Given the description of an element on the screen output the (x, y) to click on. 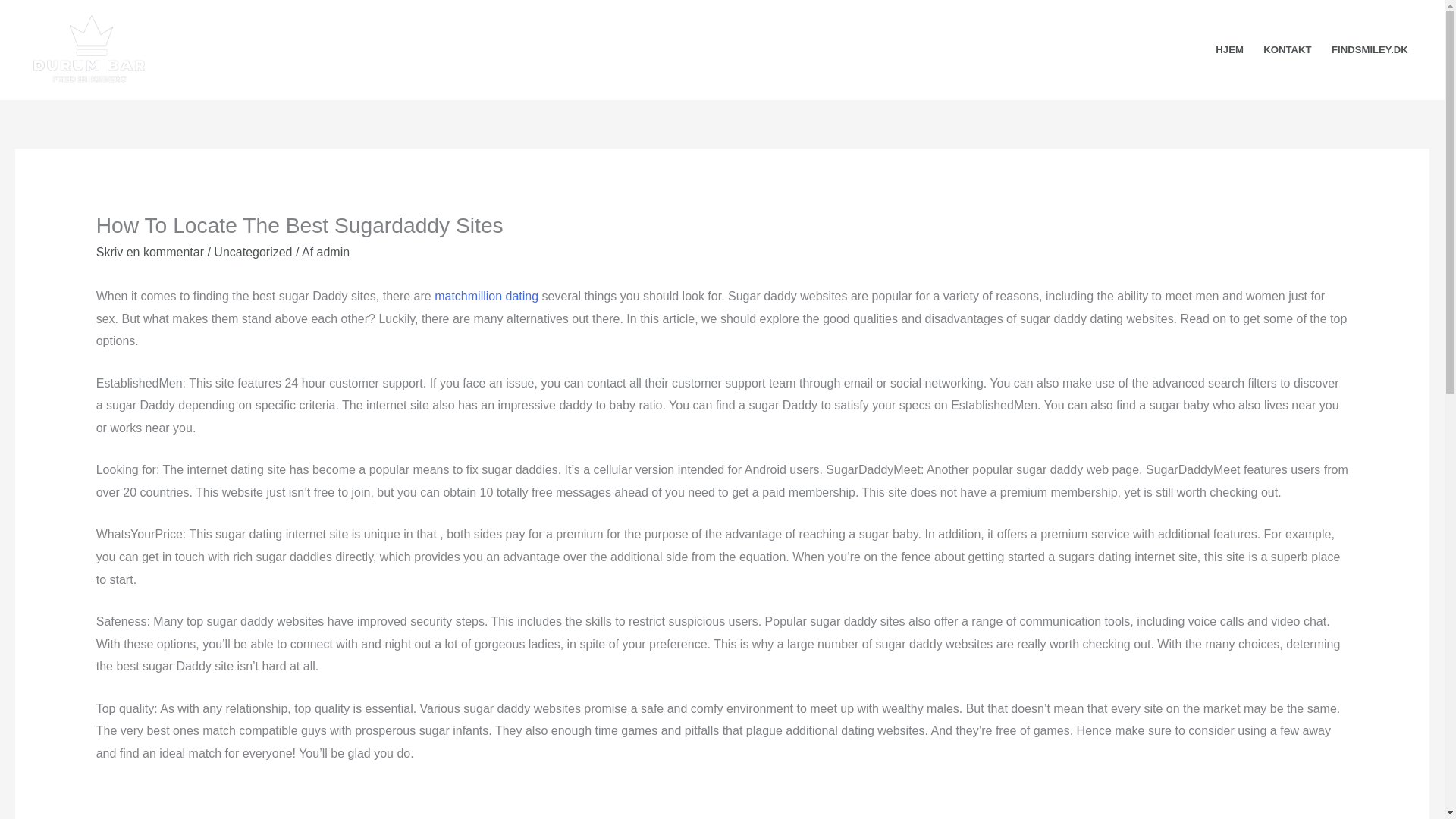
Uncategorized (253, 251)
KONTAKT (1287, 49)
FINDSMILEY.DK (1370, 49)
HJEM (1229, 49)
admin (333, 251)
Skriv en kommentar (149, 251)
matchmillion dating (485, 295)
View all posts by admin (333, 251)
